Given the description of an element on the screen output the (x, y) to click on. 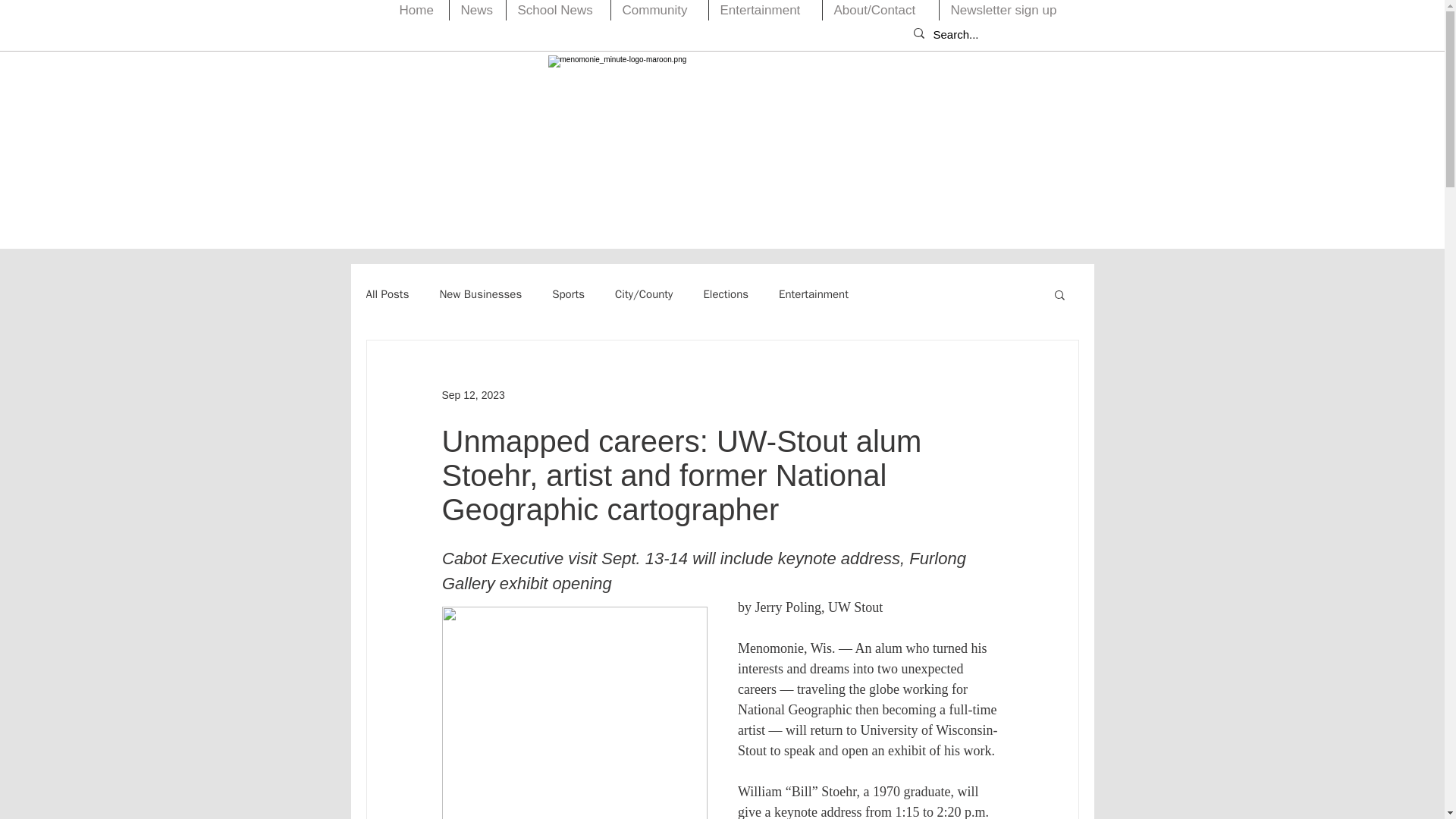
Entertainment (813, 293)
All Posts (387, 293)
Home (418, 10)
Sep 12, 2023 (472, 394)
Sports (568, 293)
Newsletter sign up (1007, 10)
Elections (725, 293)
New Businesses (480, 293)
